Given the description of an element on the screen output the (x, y) to click on. 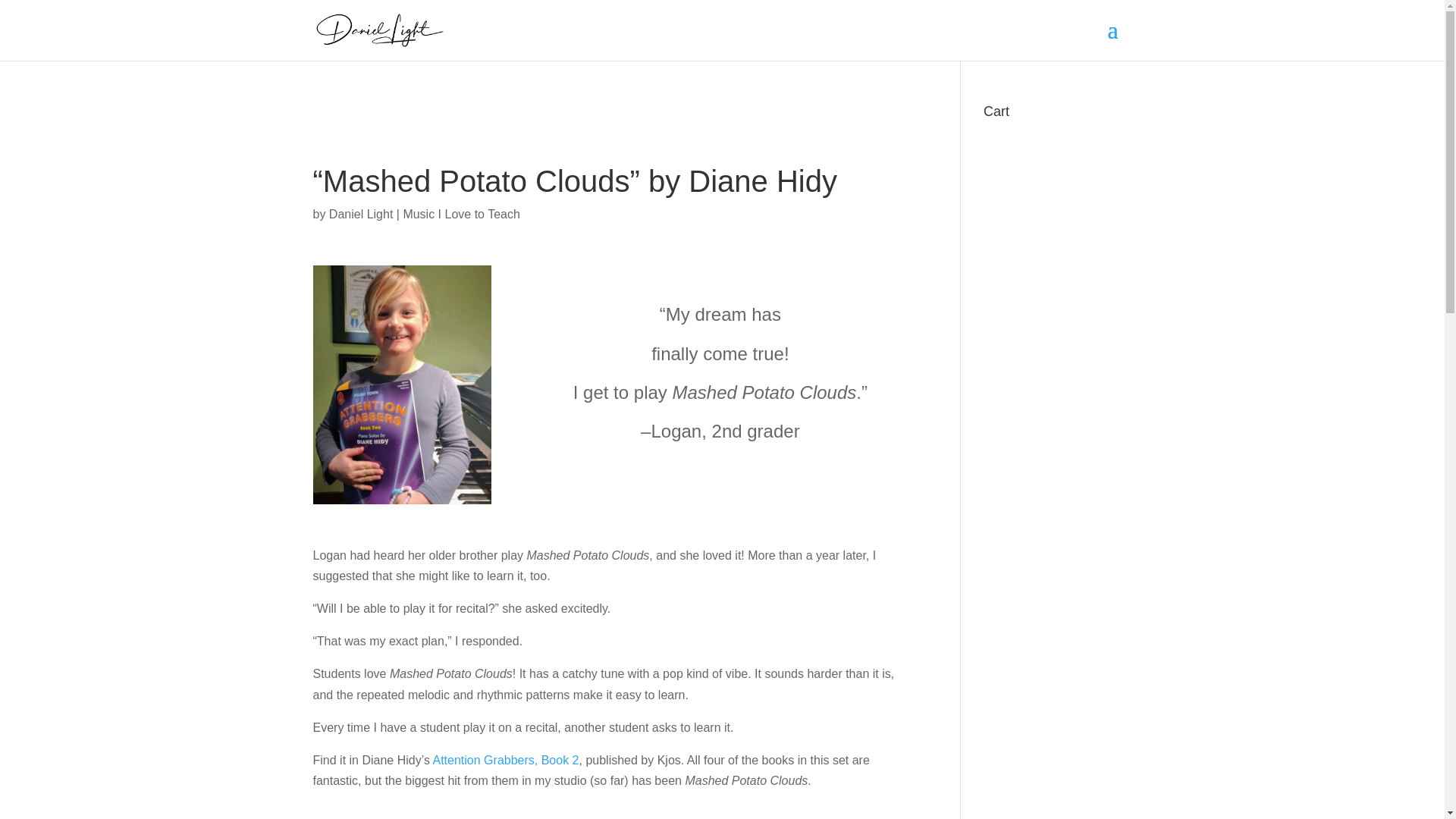
Attention Grabbers, Book 2 (505, 759)
Posts by Daniel Light (361, 214)
Music I Love to Teach (461, 214)
Daniel Light (361, 214)
